Given the description of an element on the screen output the (x, y) to click on. 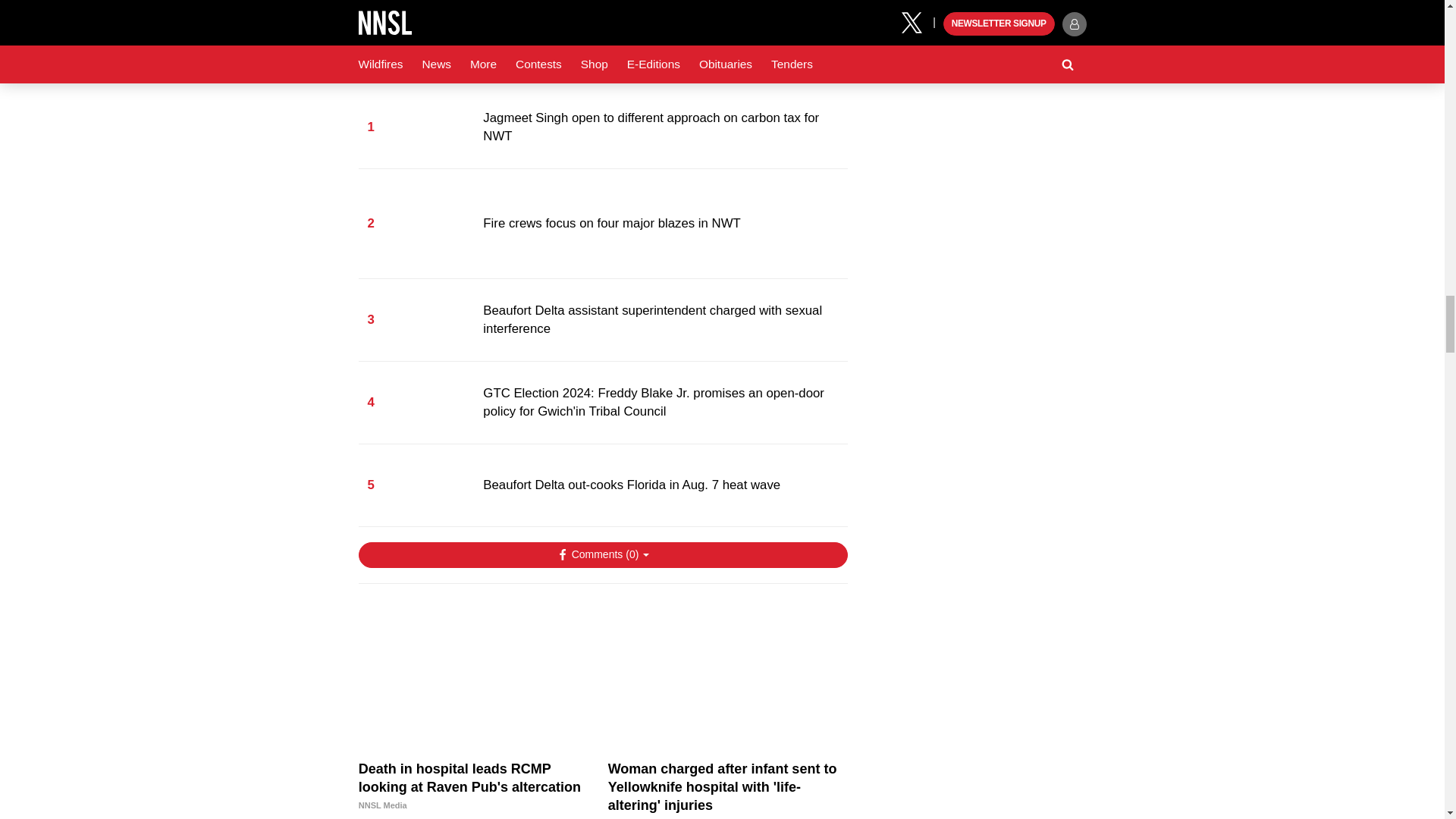
Show Comments (602, 555)
